Given the description of an element on the screen output the (x, y) to click on. 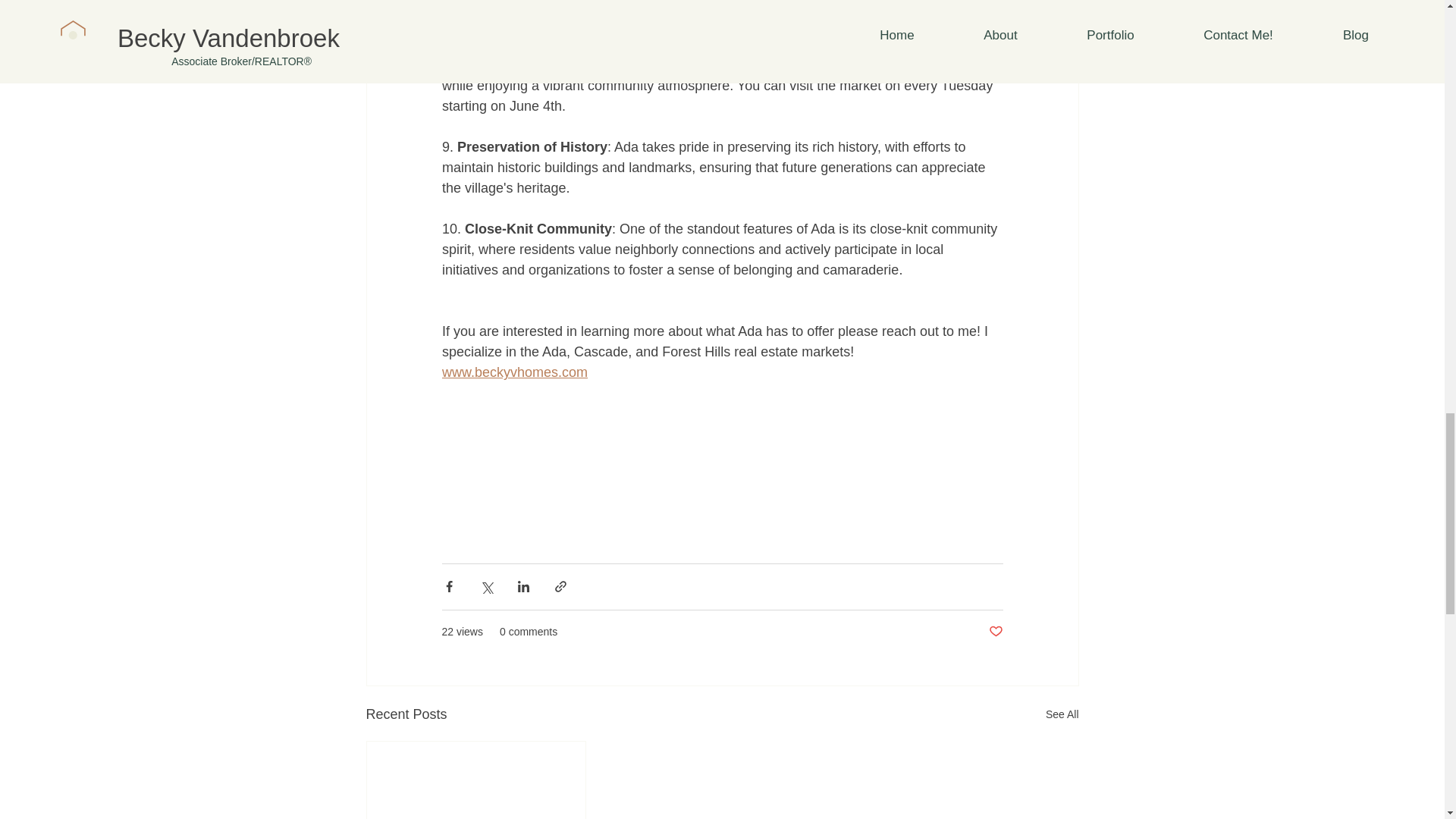
Post not marked as liked (995, 631)
See All (1061, 714)
www.beckyvhomes.com (513, 372)
